Given the description of an element on the screen output the (x, y) to click on. 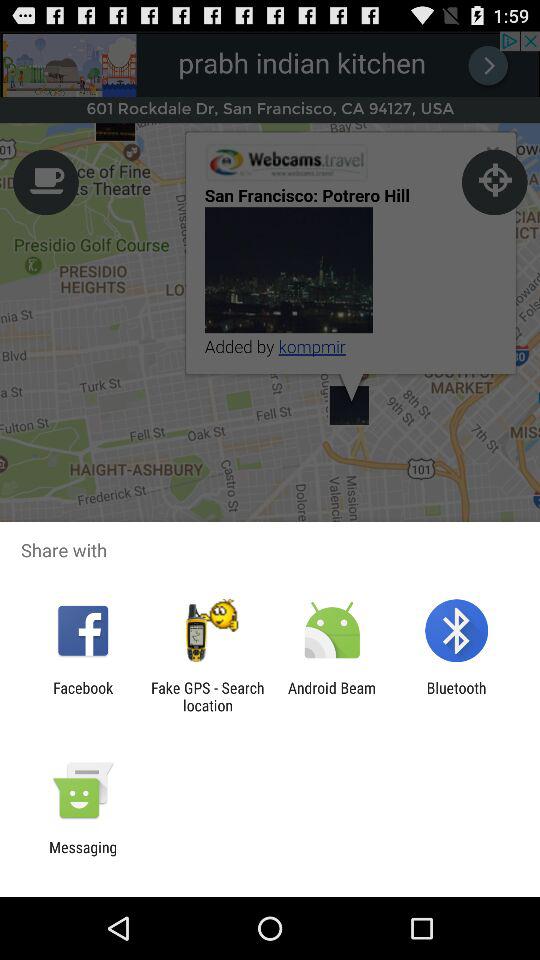
flip to facebook icon (83, 696)
